Given the description of an element on the screen output the (x, y) to click on. 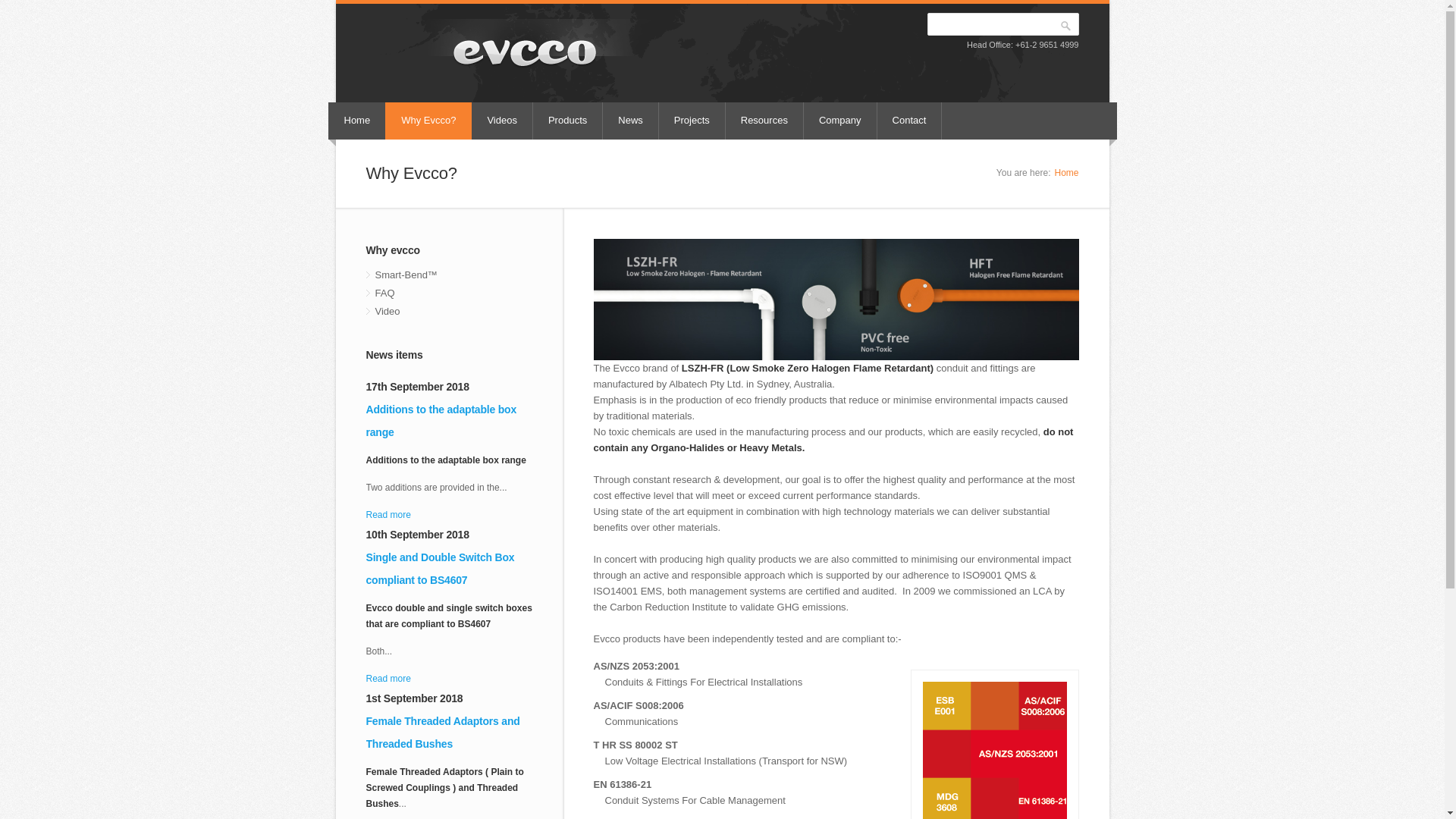
Video Element type: text (448, 311)
Additions to the adaptable box range Element type: text (440, 420)
Skip to main content Element type: text (44, 0)
Resources Element type: text (764, 120)
Home Element type: text (1066, 172)
News Element type: text (630, 120)
Read more Element type: text (387, 678)
Read more Element type: text (387, 514)
Single and Double Switch Box compliant to BS4607 Element type: text (439, 568)
Videos Element type: text (502, 120)
Why Evcco? Element type: text (428, 120)
Enter the terms you wish to search for. Element type: hover (1002, 23)
Company Element type: text (840, 120)
Female Threaded Adaptors and Threaded Bushes Element type: text (442, 732)
FAQ Element type: text (448, 293)
Products Element type: text (567, 120)
Search Element type: text (1065, 25)
Contact Element type: text (909, 120)
Projects Element type: text (691, 120)
Home Element type: text (357, 120)
